Given the description of an element on the screen output the (x, y) to click on. 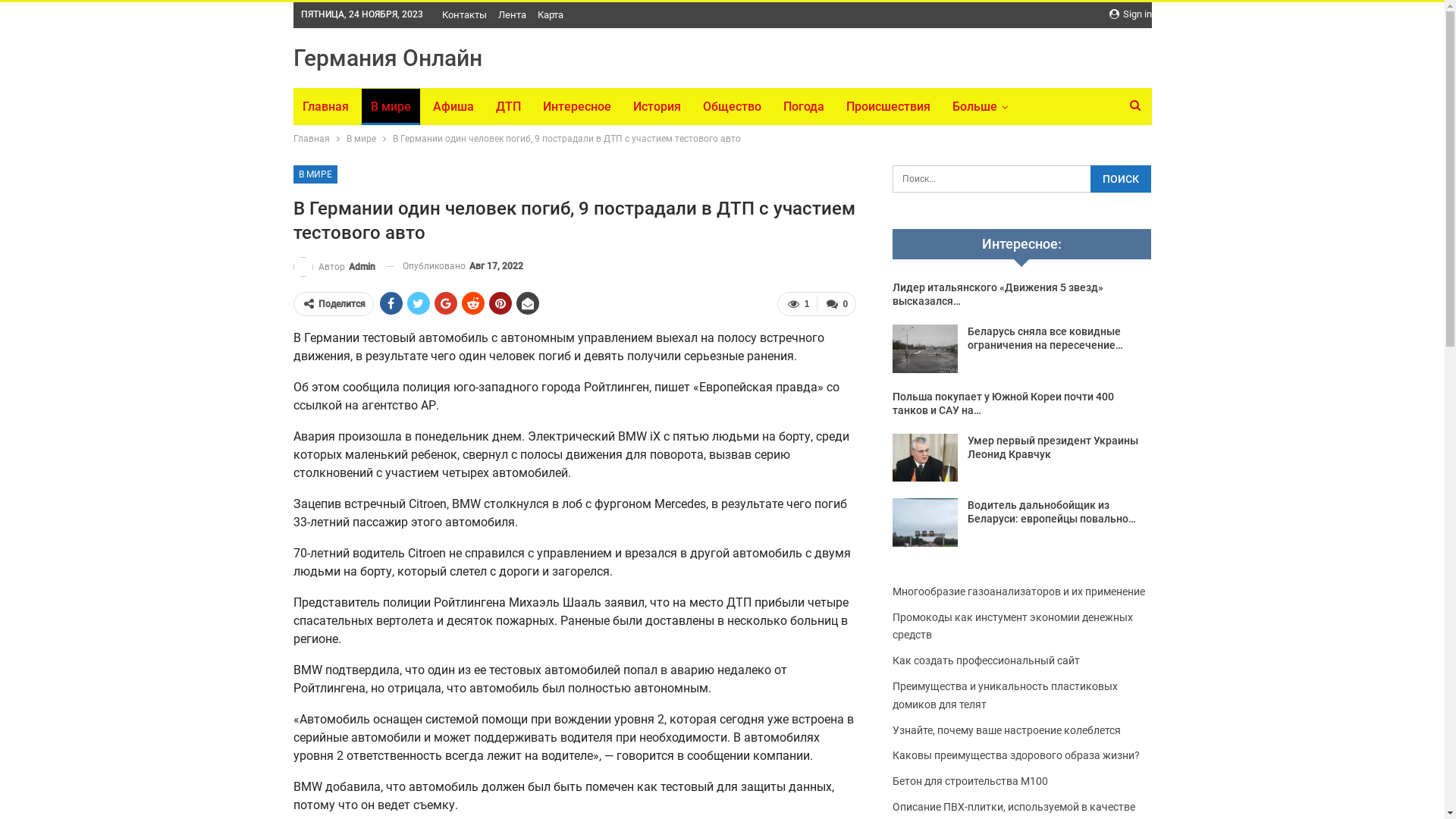
Sign in Element type: text (1129, 14)
0 Element type: text (836, 303)
